Given the description of an element on the screen output the (x, y) to click on. 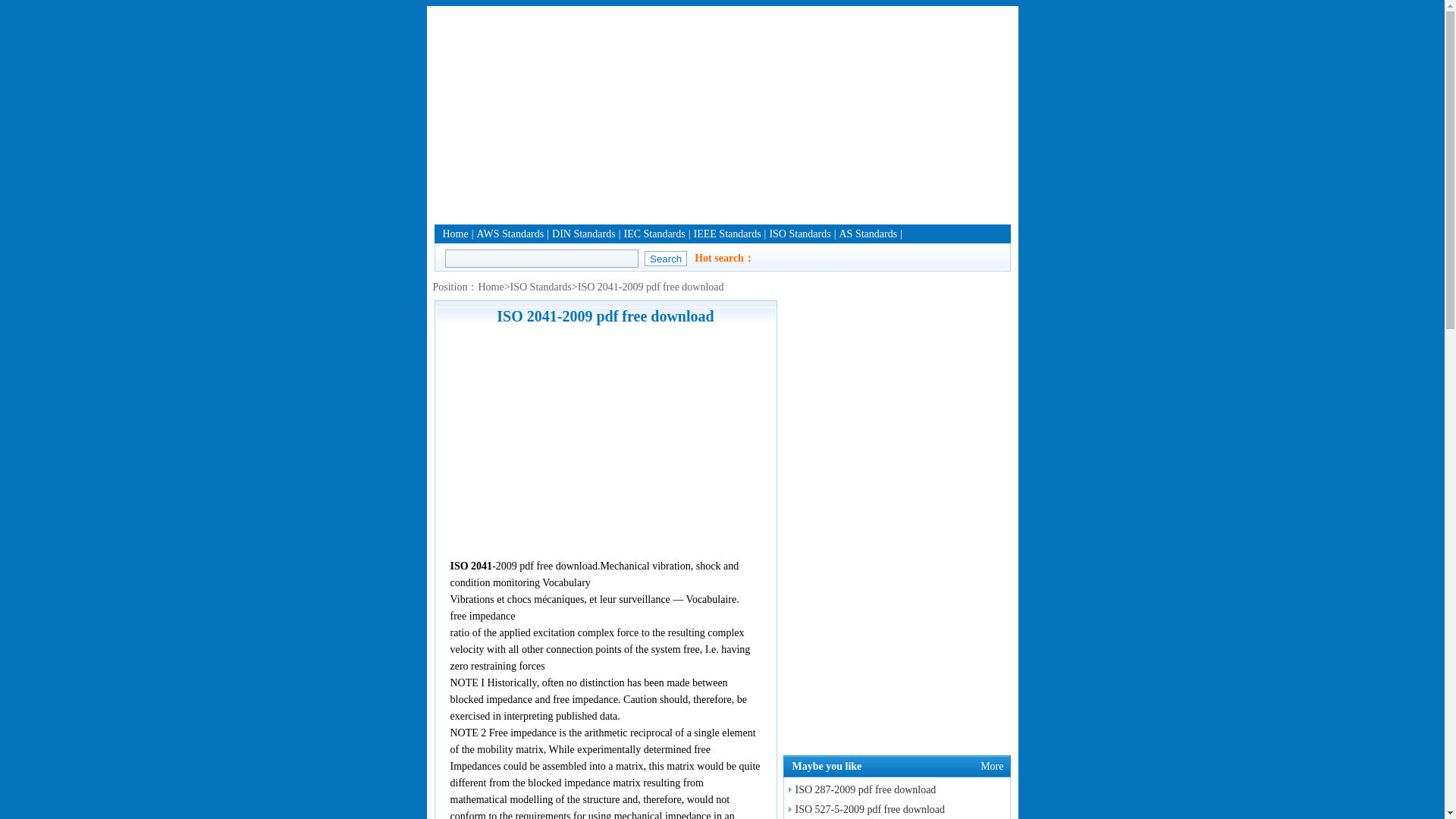
Advertisement (605, 440)
Home (455, 233)
Home (490, 286)
AS Standards (867, 233)
IEC Standards (653, 233)
Advertisement (721, 111)
ISO 527-5-2009 pdf free download (864, 808)
ISO Standards (541, 286)
Search (666, 258)
ISO 287-2009 pdf free download (860, 789)
